Given the description of an element on the screen output the (x, y) to click on. 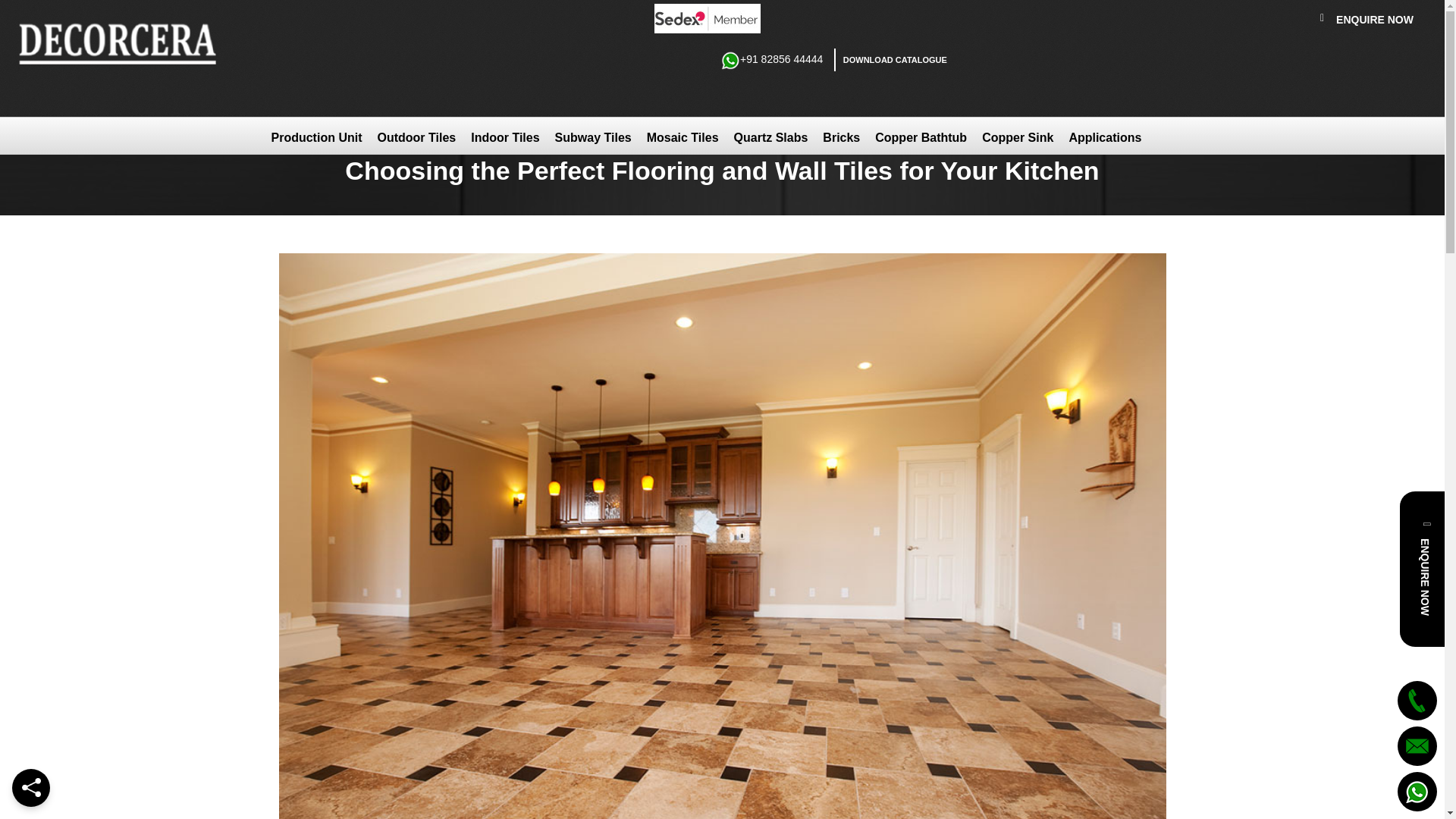
Copper Bathtub (920, 135)
Home (293, 75)
Mosaic Tiles (682, 135)
Production Unit (316, 135)
Quartz Slabs (770, 135)
DOWNLOAD CATALOGUE (892, 59)
Outdoor Tiles (416, 135)
Indoor Tiles (505, 135)
ENQUIRE NOW (1366, 22)
Applications (1104, 135)
